Given the description of an element on the screen output the (x, y) to click on. 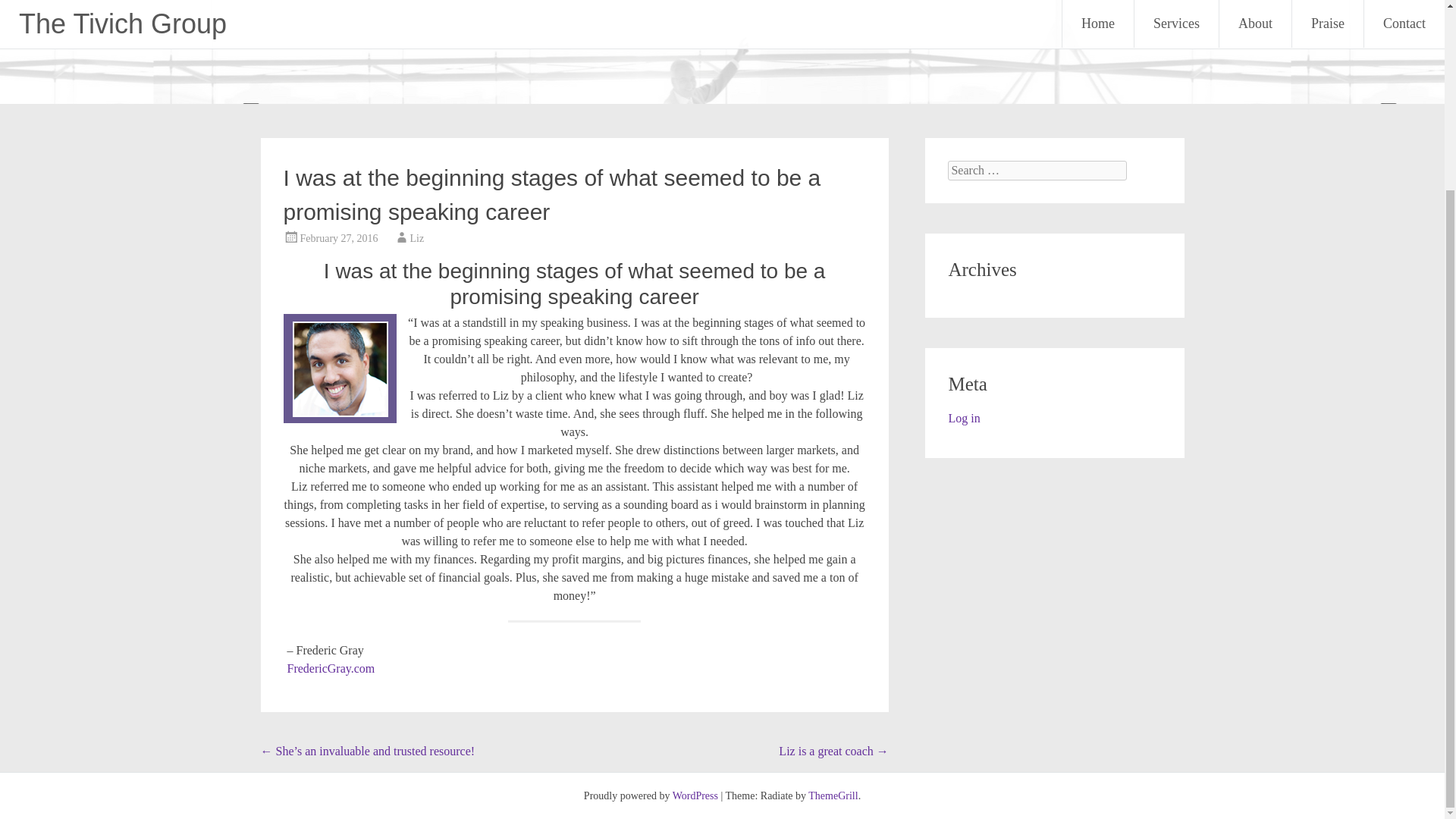
FredericGray.com (330, 667)
February 27, 2016 (338, 238)
Log in (963, 418)
WordPress (694, 795)
ThemeGrill (832, 795)
Liz (417, 238)
